Given the description of an element on the screen output the (x, y) to click on. 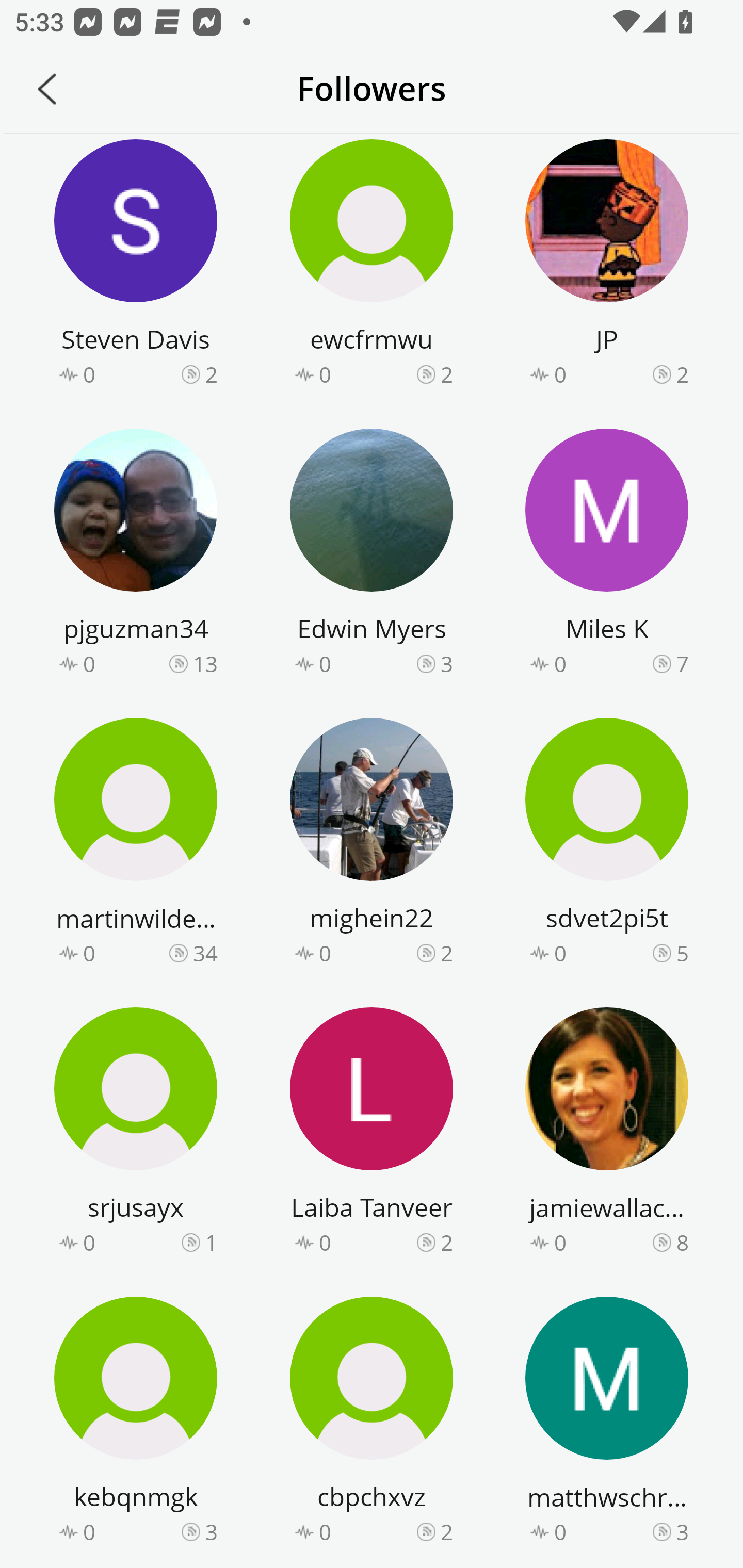
Back (46, 88)
Steven Davis 0 2 (135, 265)
ewcfrmwu 0 2 (371, 265)
JP 0 2 (606, 265)
2 (211, 373)
2 (446, 373)
2 (682, 373)
pjguzman34 0 13 (135, 555)
Edwin Myers 0 3 (371, 555)
Miles K 0 7 (606, 555)
13 (205, 663)
3 (446, 663)
7 (682, 663)
martinwildenschild 0 34 (135, 844)
mighein22 0 2 (371, 844)
sdvet2pi5t 0 5 (606, 844)
34 (205, 952)
2 (446, 952)
5 (682, 952)
srjusayx 0 1 (135, 1133)
Laiba Tanveer 0 2 (371, 1133)
jamiewallacevigil 0 8 (606, 1133)
1 (211, 1242)
2 (446, 1242)
8 (682, 1242)
kebqnmgk 0 3 (135, 1422)
cbpchxvz 0 2 (371, 1422)
matthwschroeder 0 3 (606, 1422)
3 (211, 1531)
2 (446, 1531)
3 (682, 1531)
